Given the description of an element on the screen output the (x, y) to click on. 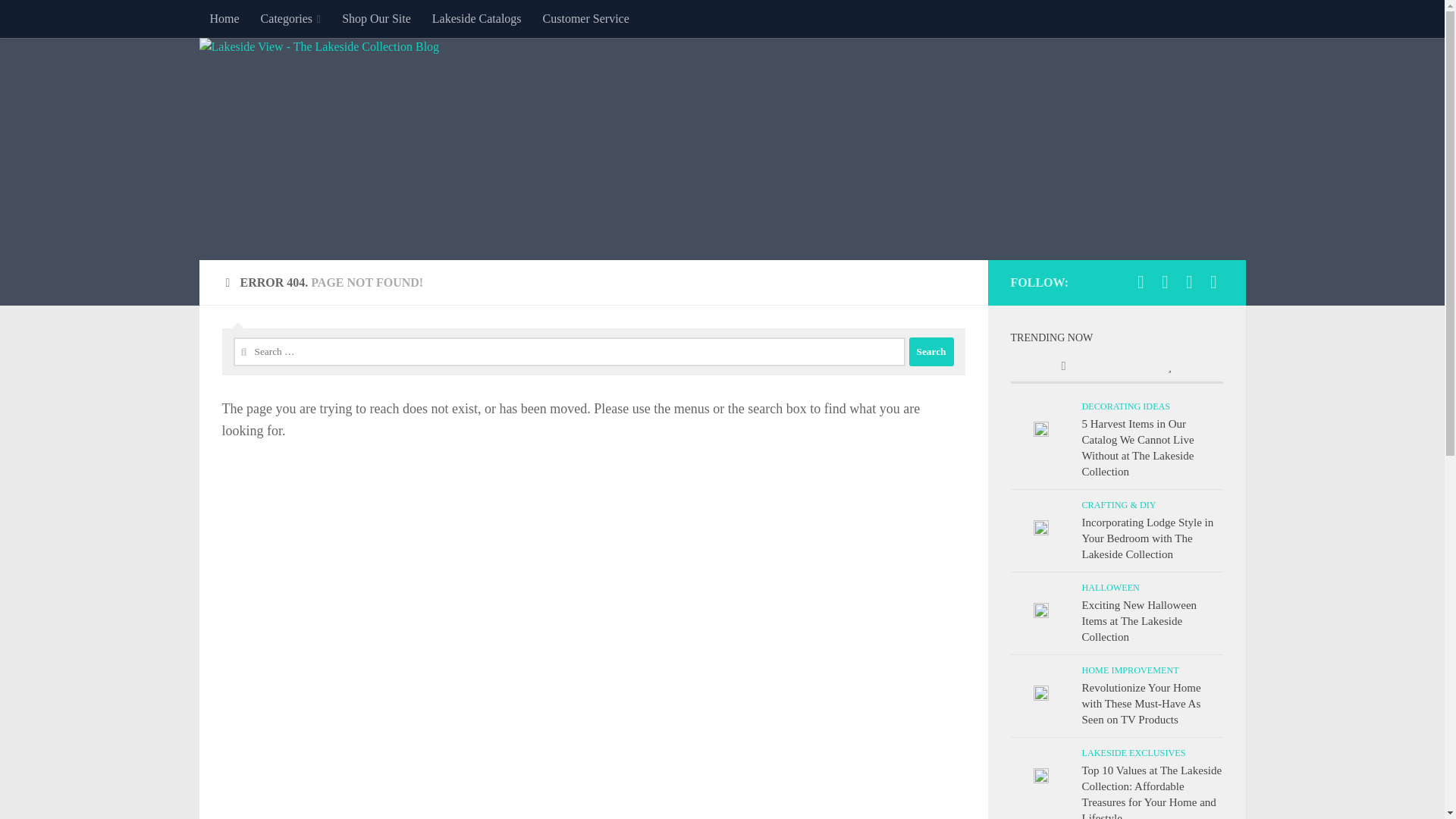
Customer Service (586, 18)
Search (930, 351)
Follow Us On Instagram (1188, 281)
Follow Us On Facebook (1140, 281)
Categories (290, 18)
Lakeside Catalogs (477, 18)
Follow Us On Pinterest (1213, 281)
Home (223, 18)
Popular Posts (1169, 367)
Search (930, 351)
